Given the description of an element on the screen output the (x, y) to click on. 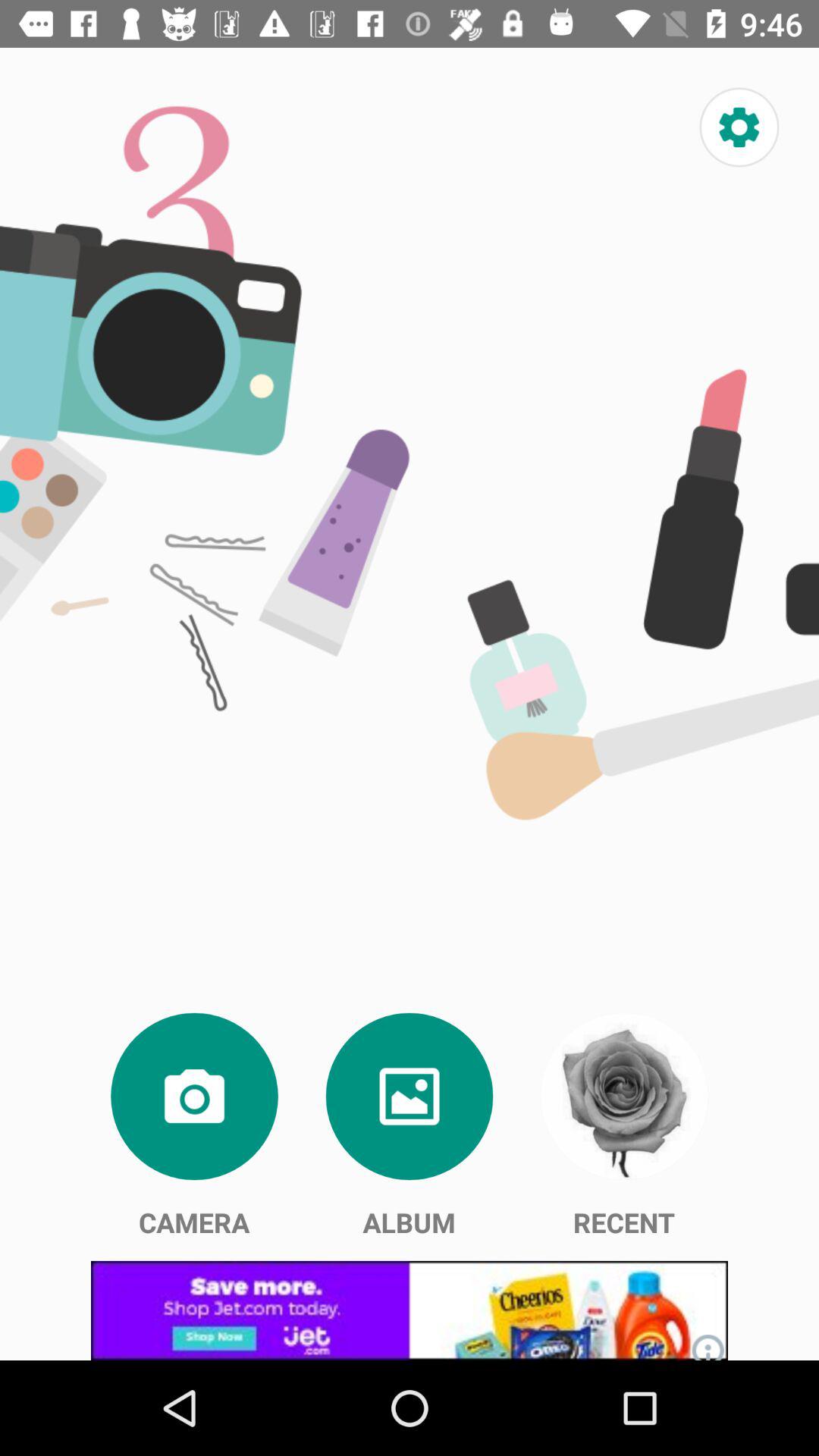
select setting (739, 127)
